Given the description of an element on the screen output the (x, y) to click on. 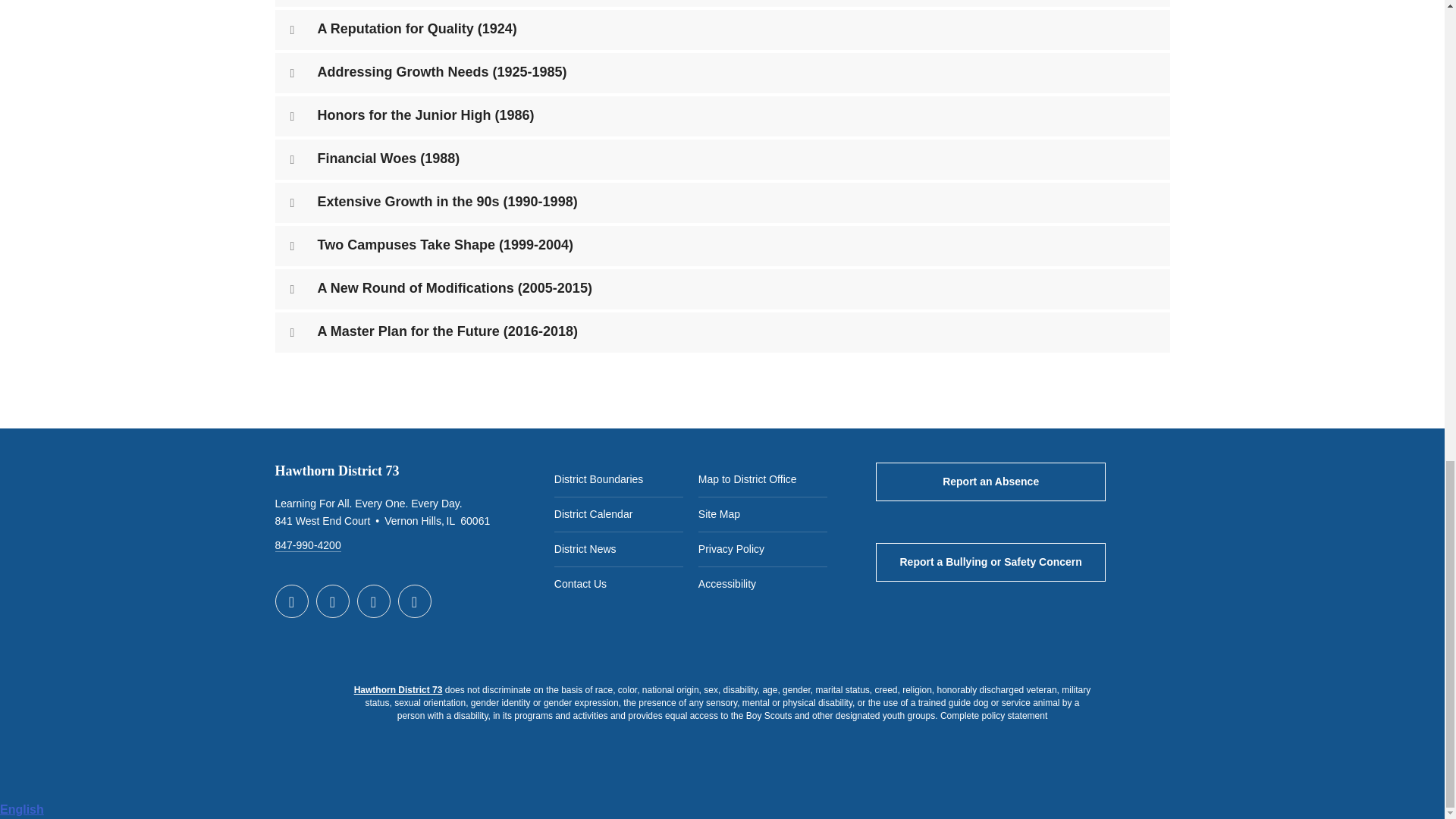
Powered by Finalsite opens in a new window (721, 774)
Hawthorn District 73 (397, 689)
